Given the description of an element on the screen output the (x, y) to click on. 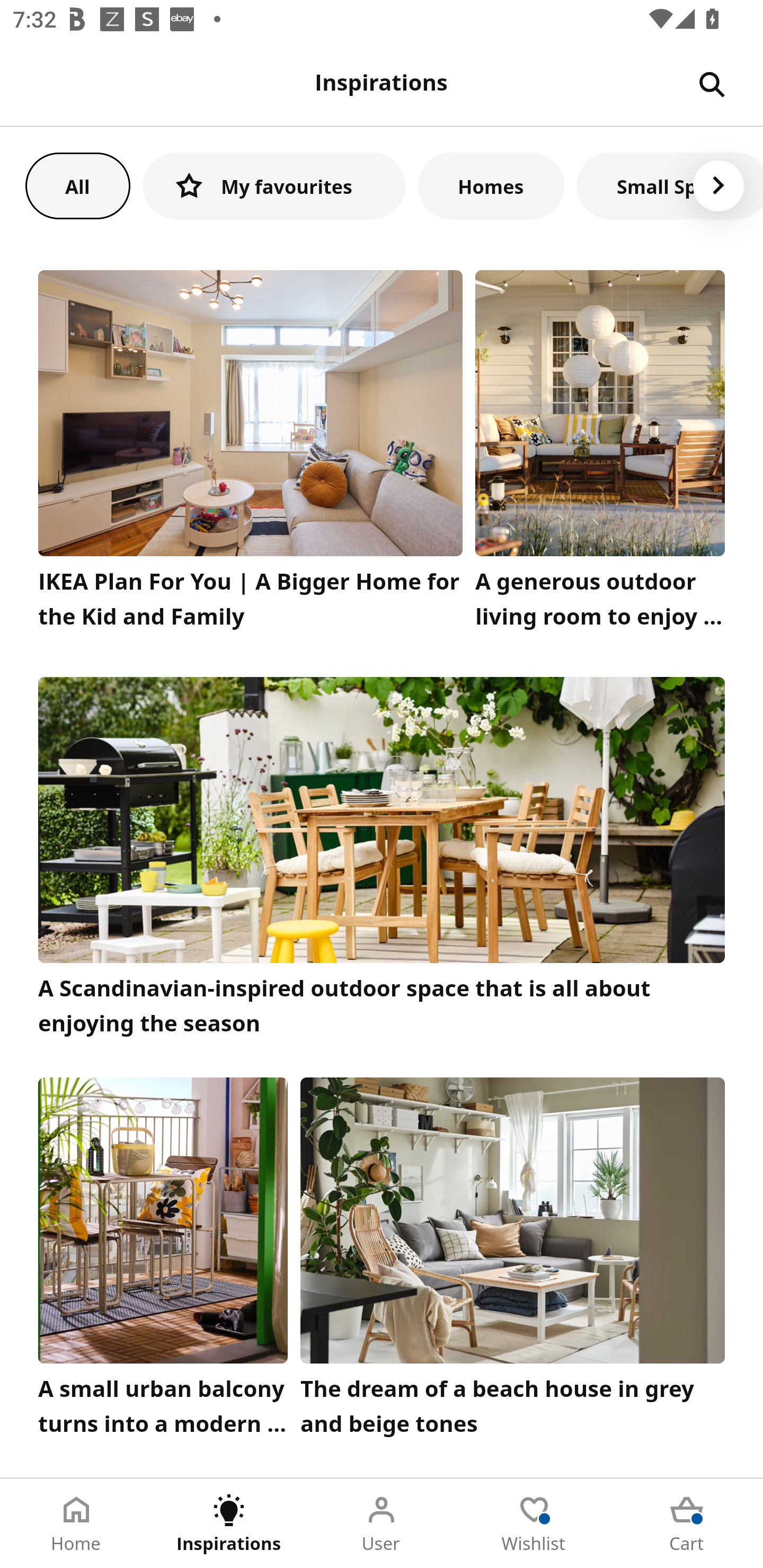
All (77, 185)
My favourites (274, 185)
Homes (491, 185)
The dream of a beach house in grey and beige tones (512, 1261)
Home
Tab 1 of 5 (76, 1522)
Inspirations
Tab 2 of 5 (228, 1522)
User
Tab 3 of 5 (381, 1522)
Wishlist
Tab 4 of 5 (533, 1522)
Cart
Tab 5 of 5 (686, 1522)
